Given the description of an element on the screen output the (x, y) to click on. 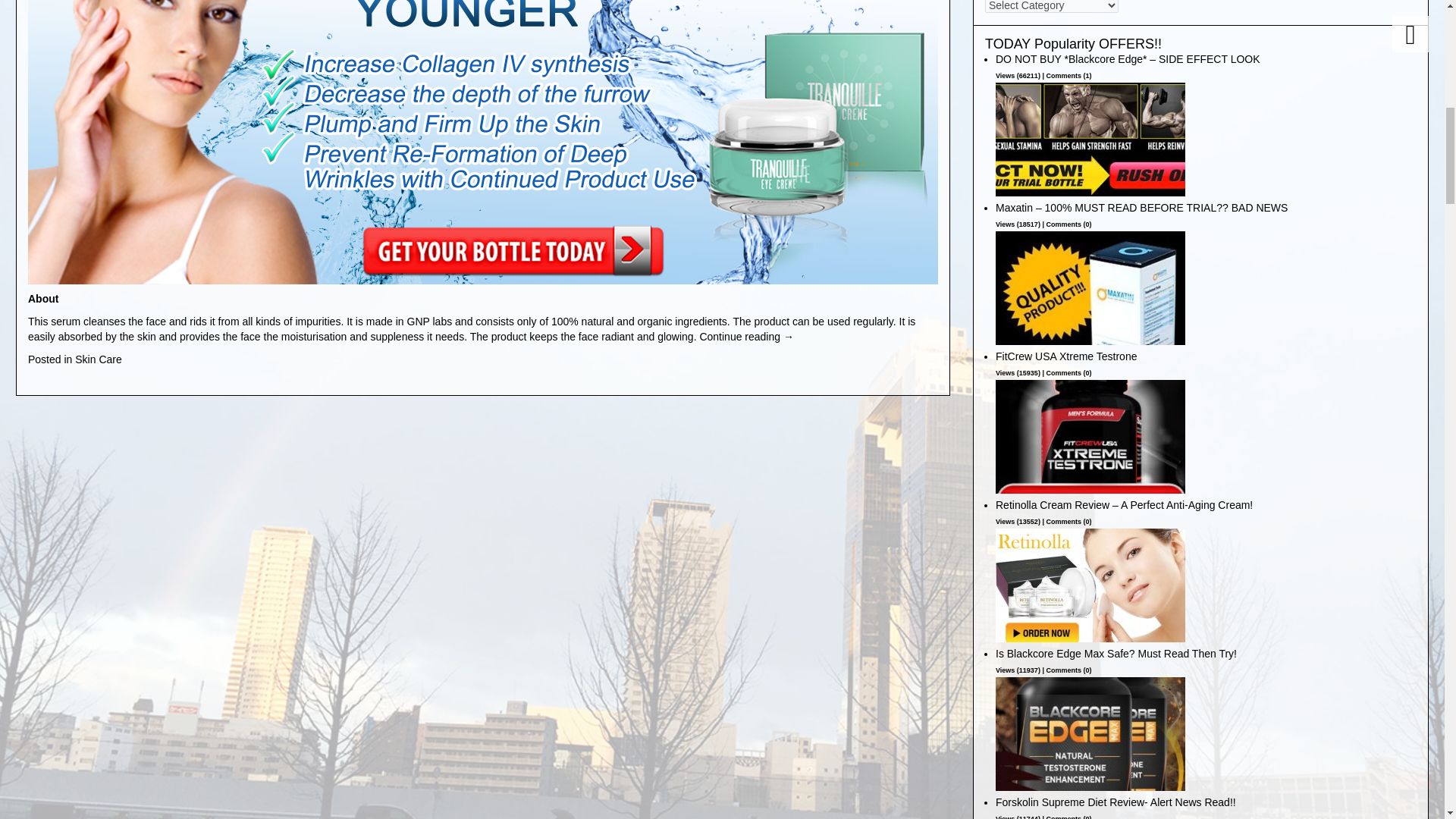
Skin Care (97, 358)
